Given the description of an element on the screen output the (x, y) to click on. 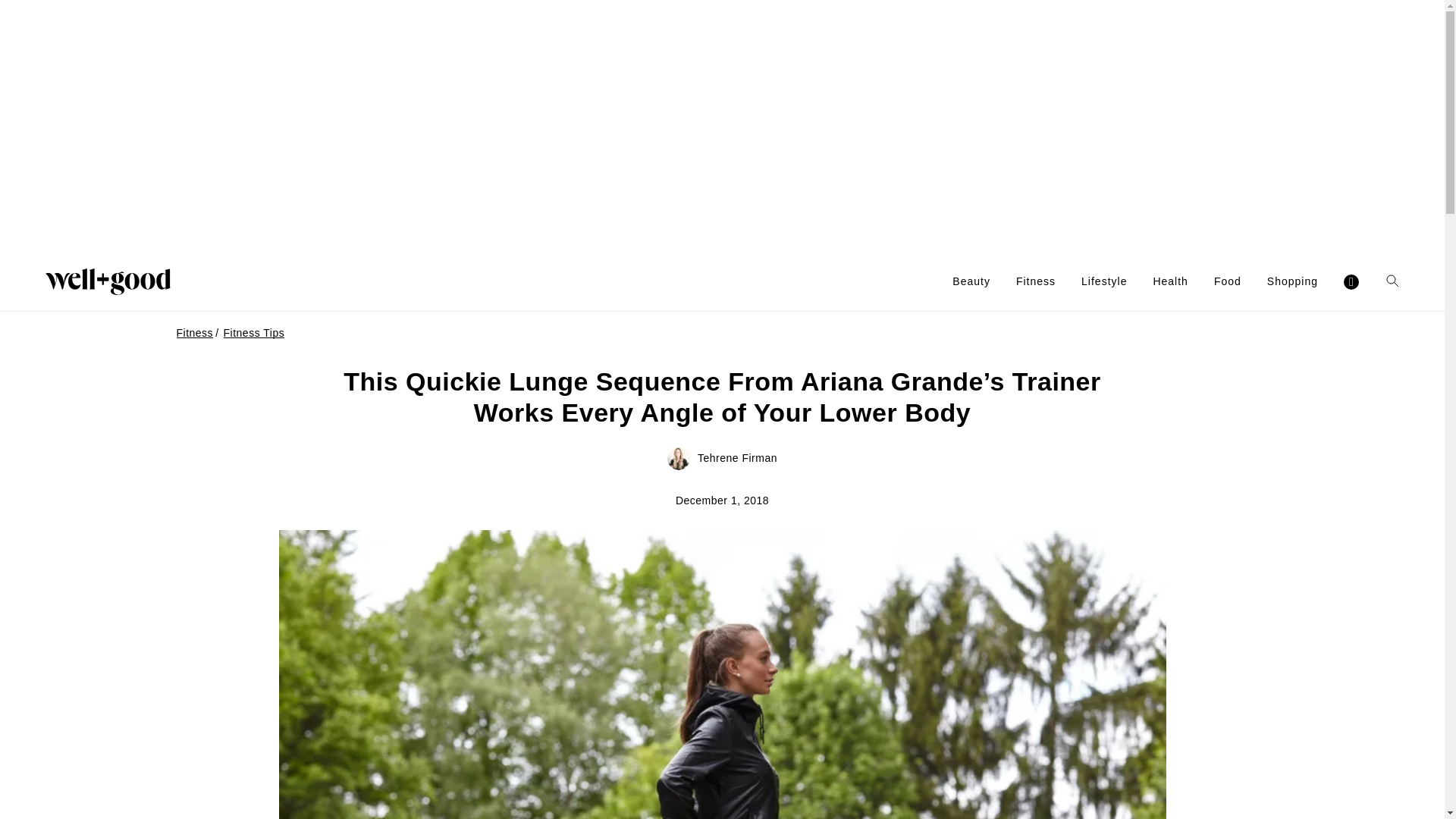
Lifestyle (1103, 281)
Health (1170, 281)
Fitness (1035, 281)
Food (1227, 281)
Shopping (1291, 281)
Beauty (971, 281)
